Given the description of an element on the screen output the (x, y) to click on. 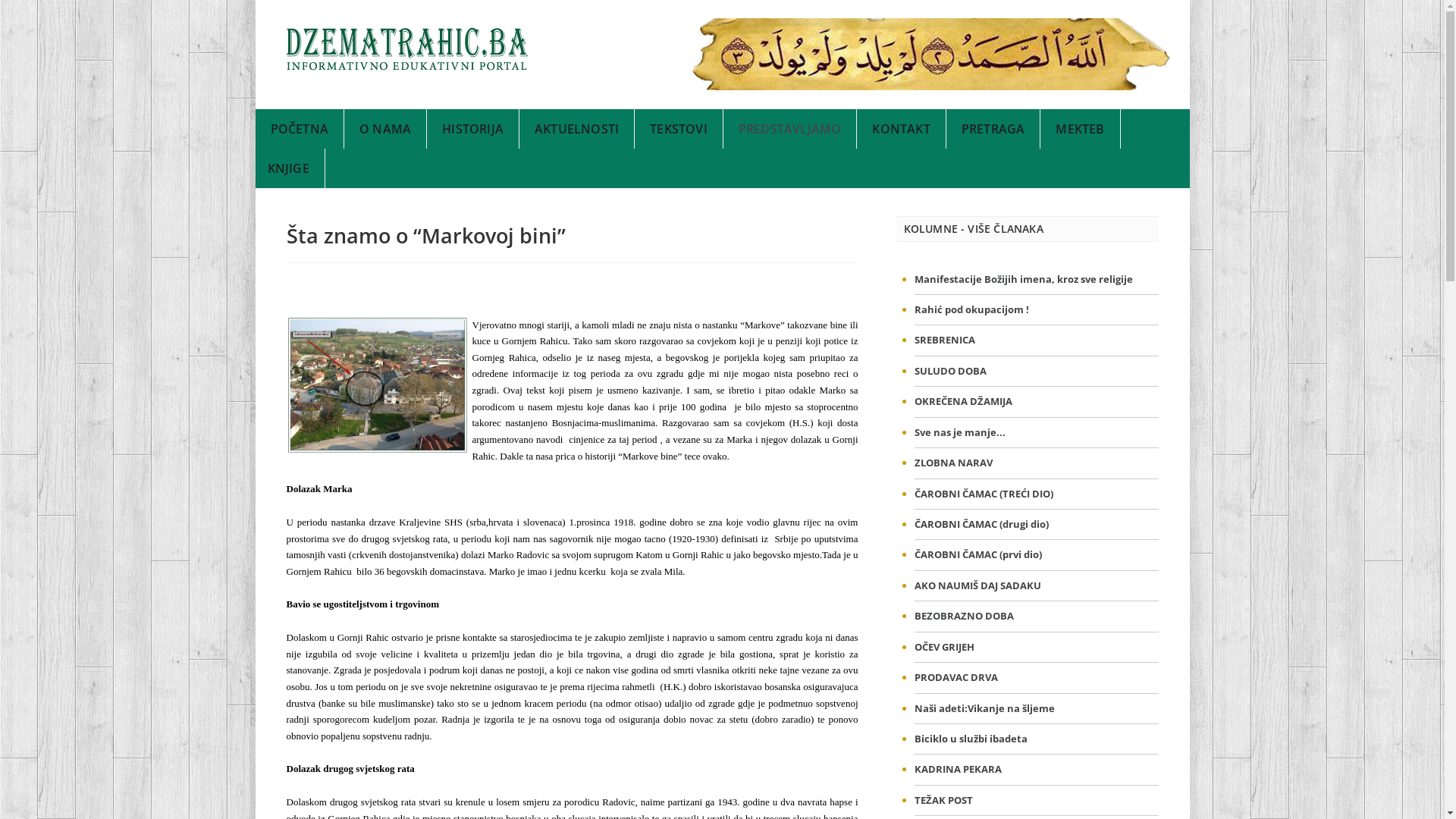
title Element type: hover (377, 385)
BEZOBRAZNO DOBA Element type: text (963, 615)
Sve nas je manje... Element type: text (959, 432)
ZLOBNA NARAV Element type: text (953, 462)
SREBRENICA Element type: text (944, 339)
PRETRAGA Element type: text (993, 128)
AKTUELNOSTI Element type: text (576, 128)
KONTAKT Element type: text (900, 128)
PREDSTAVLJAMO Element type: text (790, 128)
Headlines Element type: hover (407, 49)
KNJIGE Element type: text (287, 168)
KADRINA PEKARA Element type: text (957, 768)
MEKTEB Element type: text (1080, 128)
PRODAVAC DRVA Element type: text (955, 677)
O NAMA Element type: text (385, 128)
HISTORIJA Element type: text (472, 128)
SULUDO DOBA Element type: text (950, 370)
